Given the description of an element on the screen output the (x, y) to click on. 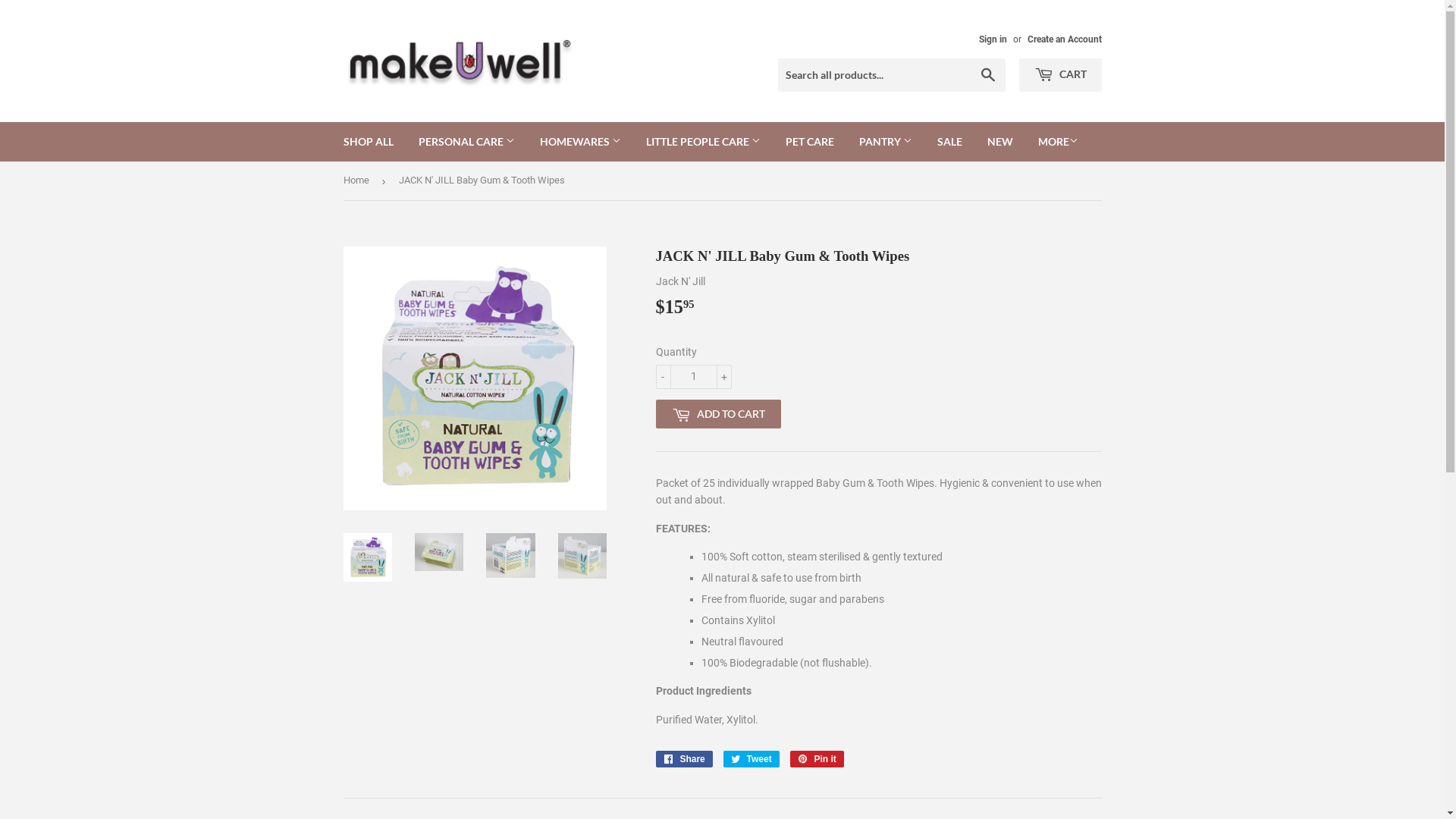
LITTLE PEOPLE CARE Element type: text (702, 141)
Sign in Element type: text (992, 39)
CART Element type: text (1060, 74)
Home Element type: text (357, 180)
PANTRY Element type: text (885, 141)
Search Element type: text (987, 75)
PERSONAL CARE Element type: text (465, 141)
MORE Element type: text (1057, 141)
Pin it
Pin on Pinterest Element type: text (817, 758)
SALE Element type: text (948, 141)
ADD TO CART Element type: text (717, 413)
Tweet
Tweet on Twitter Element type: text (751, 758)
Share
Share on Facebook Element type: text (683, 758)
Create an Account Element type: text (1063, 39)
PET CARE Element type: text (808, 141)
NEW Element type: text (999, 141)
SHOP ALL Element type: text (368, 141)
HOMEWARES Element type: text (579, 141)
